Given the description of an element on the screen output the (x, y) to click on. 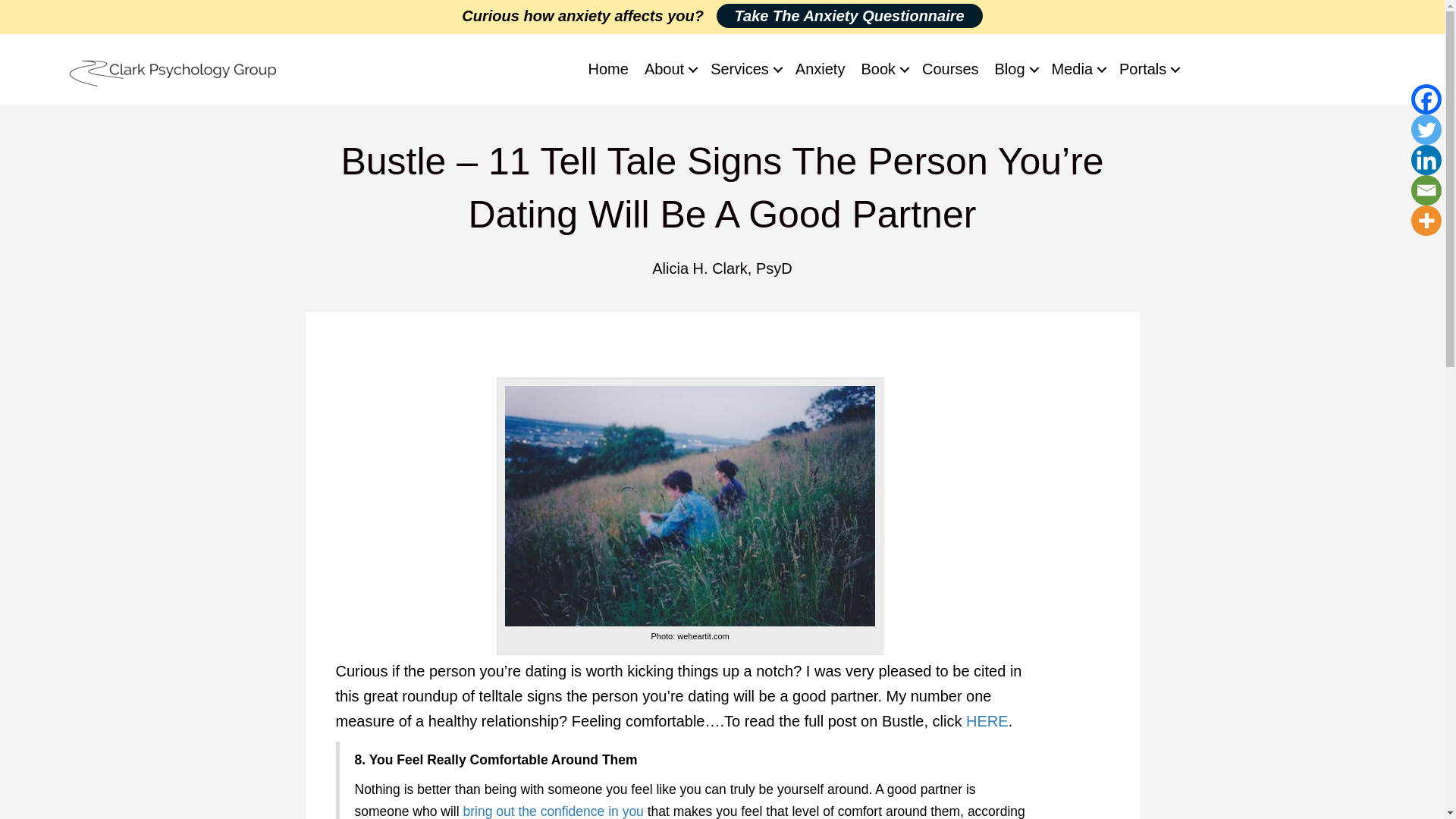
About (669, 69)
Take The Anxiety Questionnaire (849, 15)
Twitter (1425, 129)
Blog (1015, 69)
Screen Shot 2019-08-21 at 9.55.02 PM (174, 70)
Linkedin (1425, 159)
Facebook (1425, 99)
HERE (987, 720)
Alicia H. Clark, PsyD (722, 268)
Media (1076, 69)
